Given the description of an element on the screen output the (x, y) to click on. 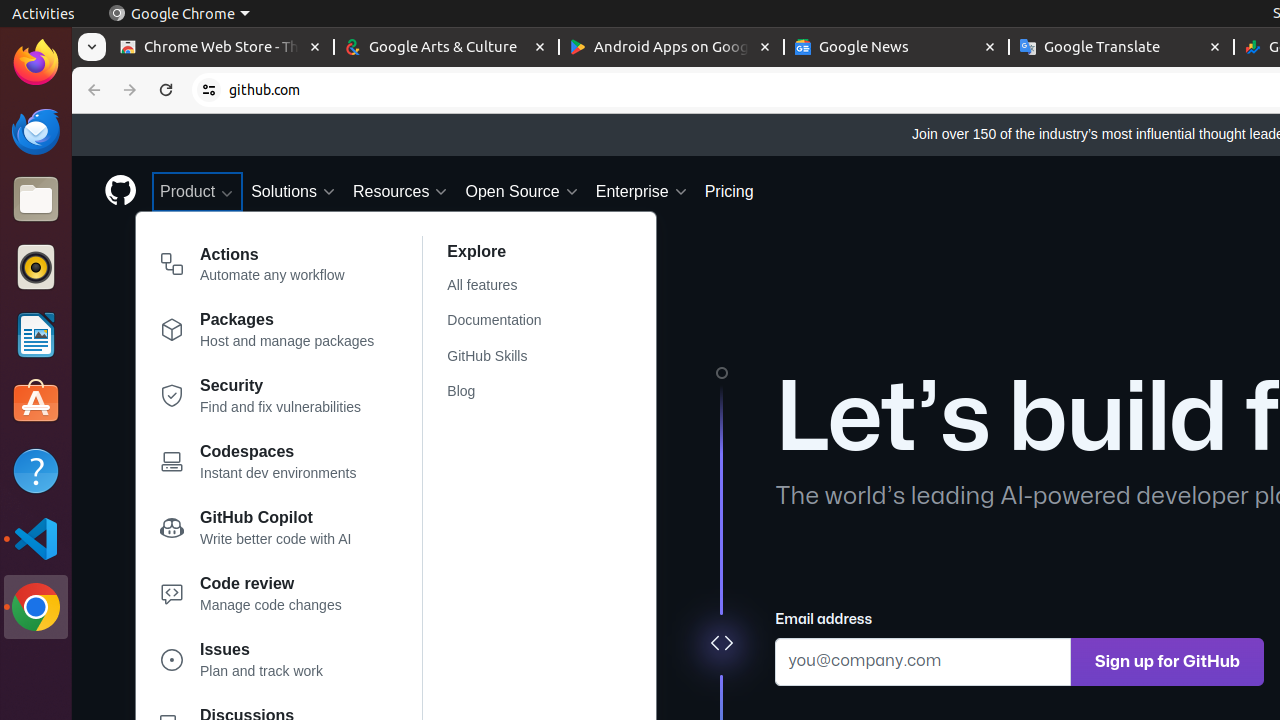
Files Element type: push-button (36, 199)
Open Source Element type: push-button (522, 191)
Blog Element type: link (506, 392)
Skip to content Element type: link (72, 114)
Thunderbird Mail Element type: push-button (36, 131)
